Given the description of an element on the screen output the (x, y) to click on. 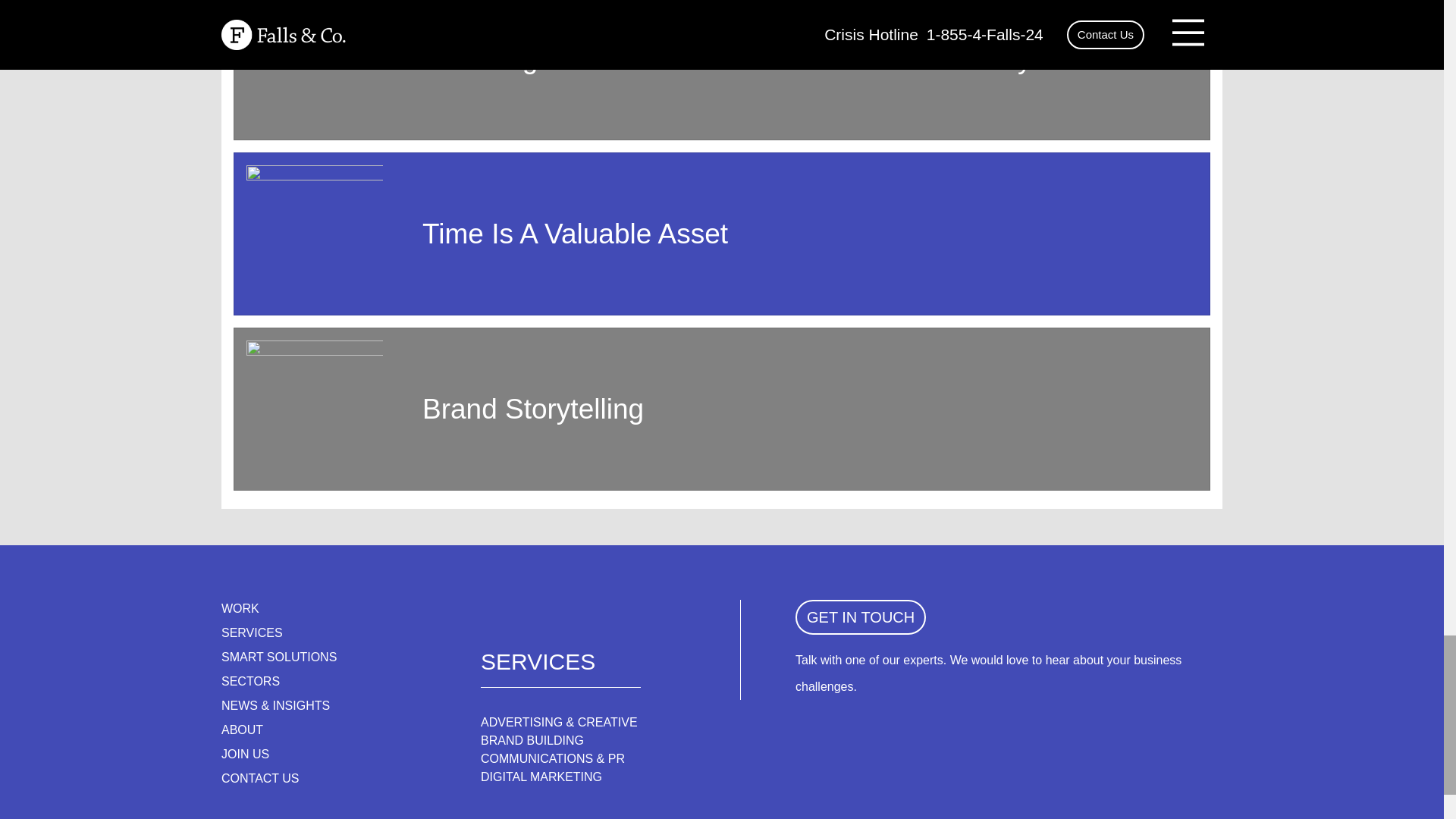
SERVICES (251, 633)
SMART SOLUTIONS (278, 657)
WORK (240, 608)
GET IN TOUCH (860, 616)
ABOUT (242, 730)
JOIN US (245, 754)
BRAND BUILDING (531, 739)
CONTACT US (260, 778)
DIGITAL MARKETING (541, 776)
SECTORS (250, 681)
